Given the description of an element on the screen output the (x, y) to click on. 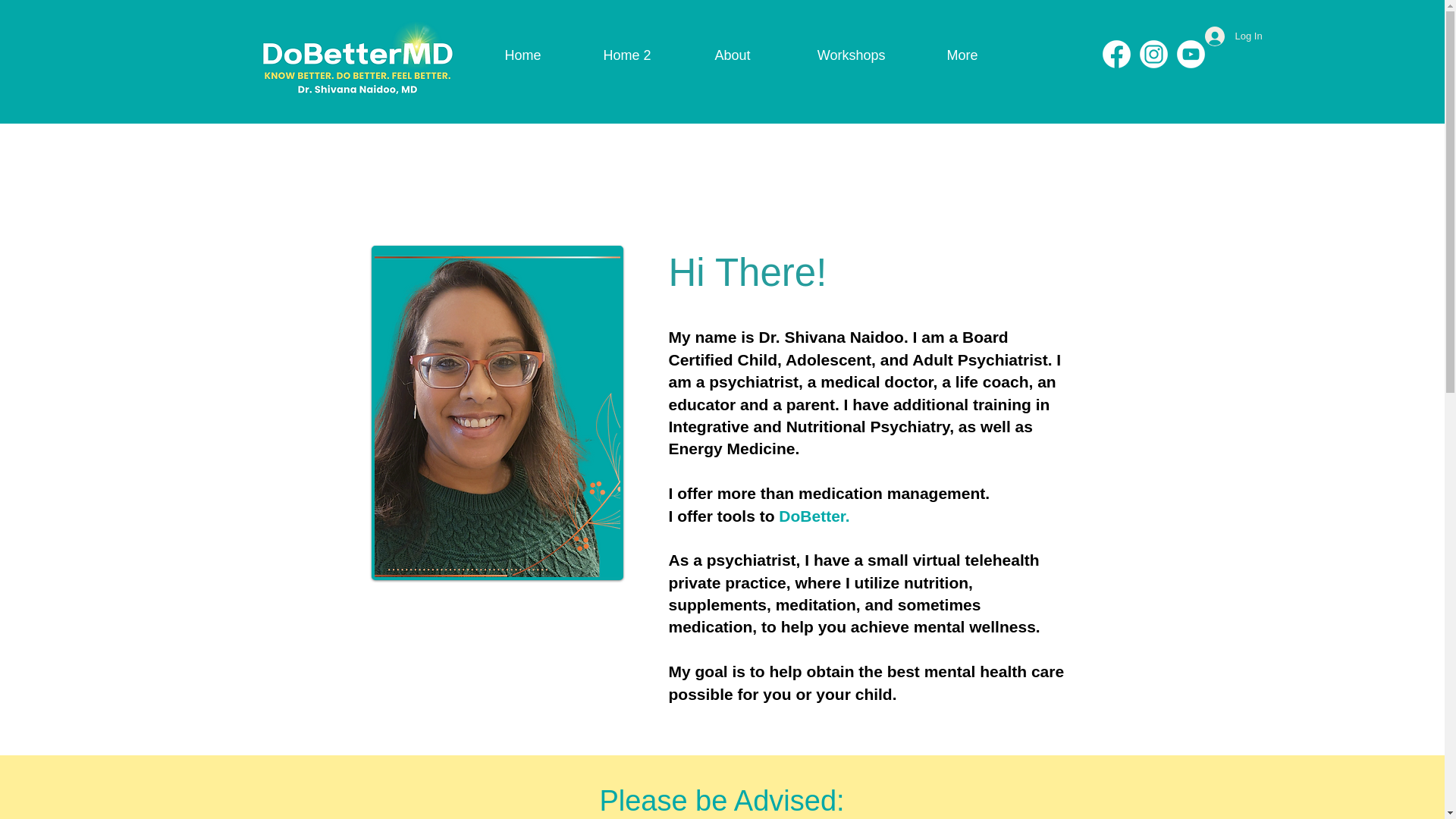
About (711, 55)
Workshops (828, 55)
Home 2 (606, 55)
Log In (1224, 36)
Home (503, 55)
